Given the description of an element on the screen output the (x, y) to click on. 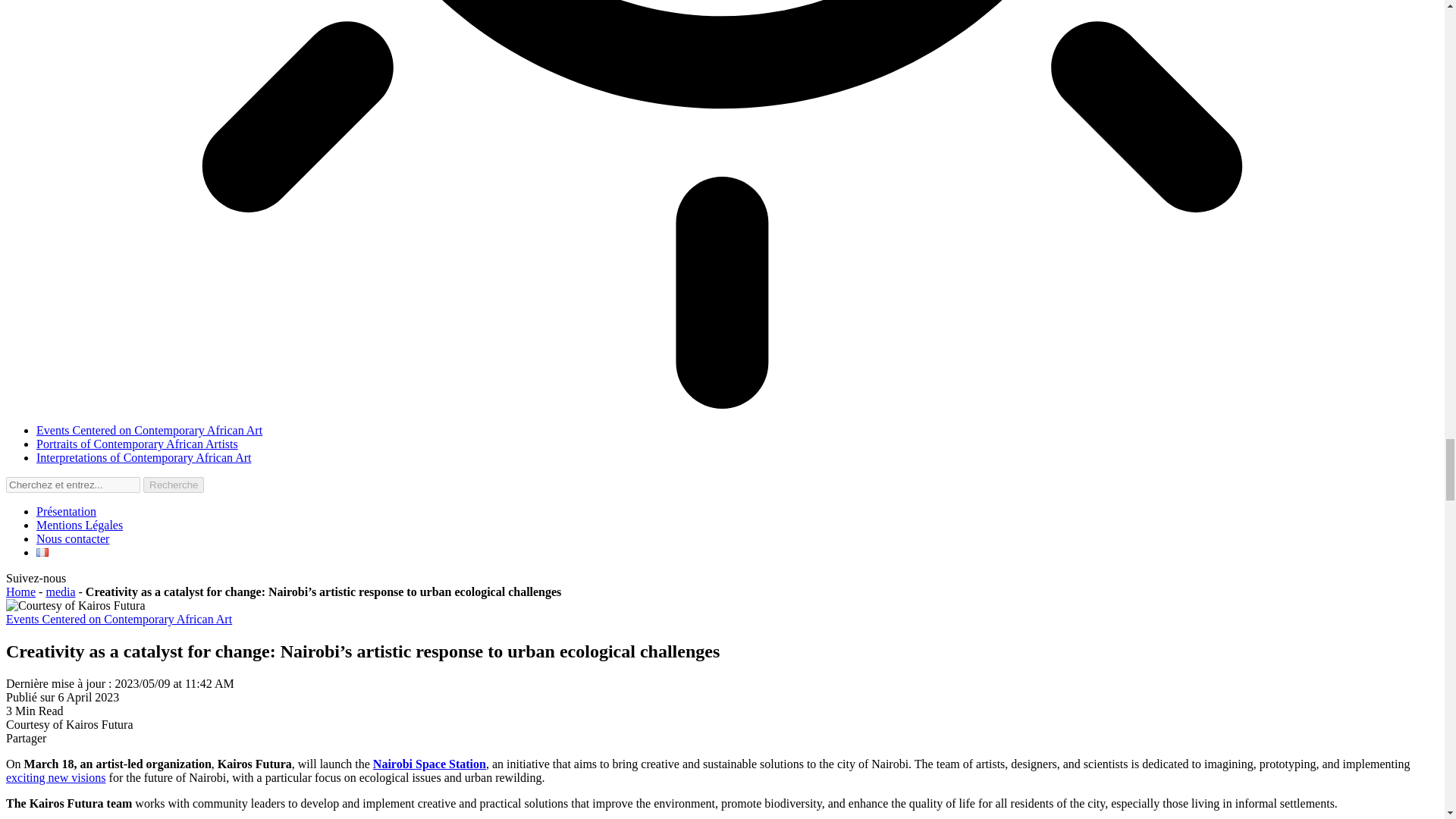
Events Centered on Contemporary African Art (149, 430)
Nous contacter (72, 538)
media (60, 591)
Recherche (172, 484)
Home (19, 591)
Events Centered on Contemporary African Art (118, 618)
Recherche (172, 484)
Interpretations of Contemporary African Art (143, 457)
Portraits of Contemporary African Artists (137, 443)
